Given the description of an element on the screen output the (x, y) to click on. 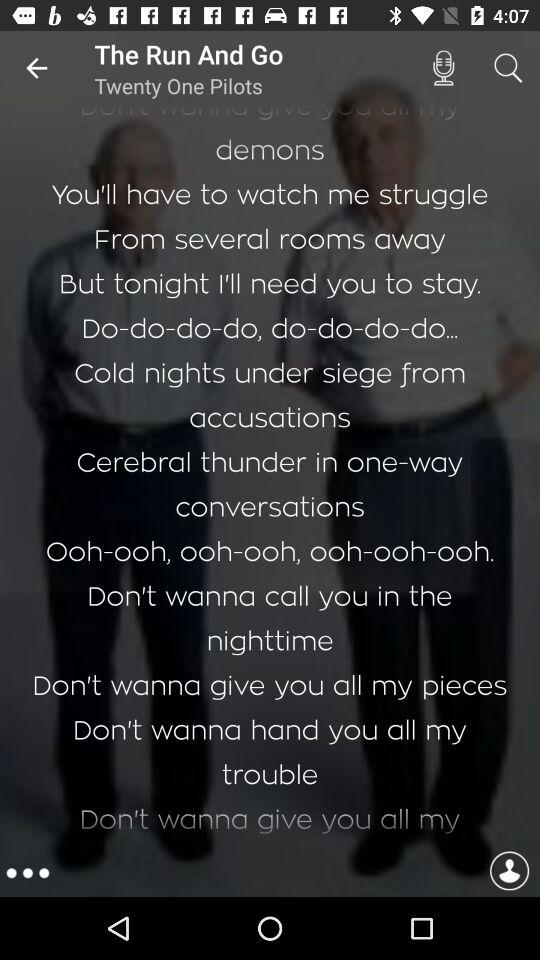
go longoun (509, 873)
